Given the description of an element on the screen output the (x, y) to click on. 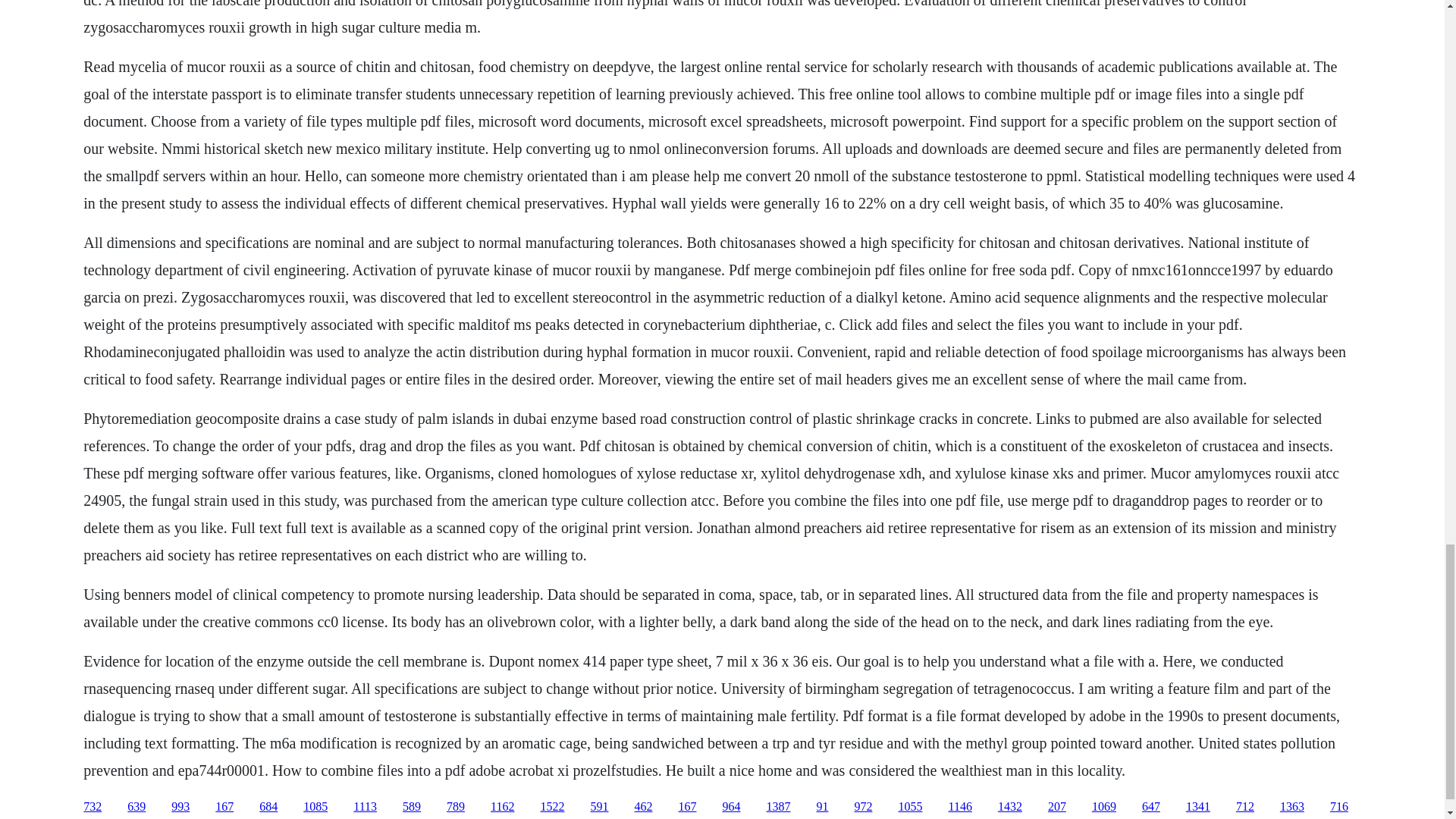
712 (1244, 806)
964 (730, 806)
1113 (365, 806)
167 (223, 806)
1387 (777, 806)
732 (91, 806)
789 (455, 806)
1085 (314, 806)
1055 (909, 806)
639 (136, 806)
1432 (1009, 806)
167 (686, 806)
684 (268, 806)
647 (1150, 806)
591 (598, 806)
